Given the description of an element on the screen output the (x, y) to click on. 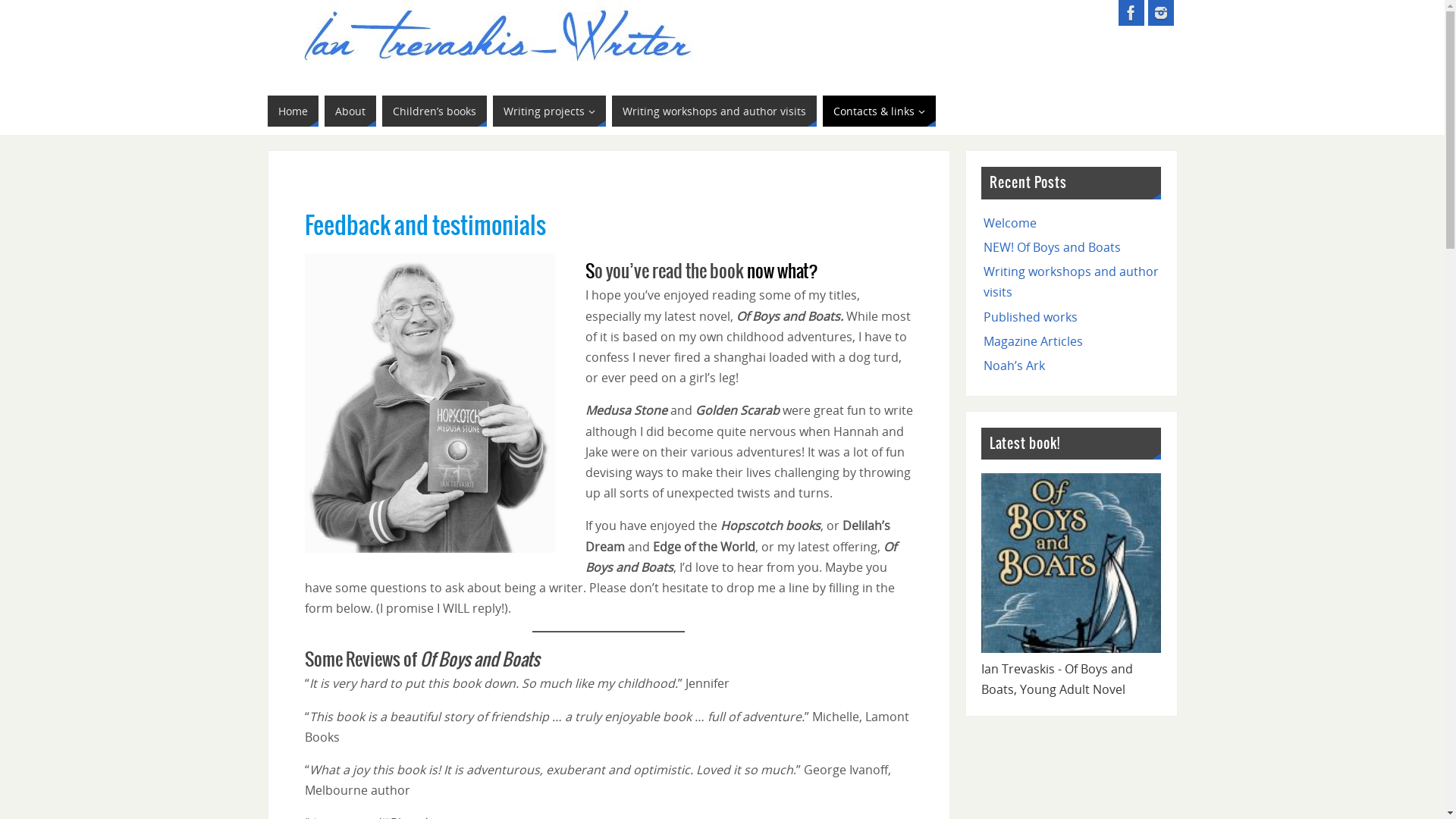
Of-Boys-and-Boats-post-pic1 Element type: hover (1070, 562)
Writing projects Element type: text (548, 110)
About Element type: text (350, 110)
Ian Trevaskis - Facebook Element type: hover (1130, 12)
Welcome Element type: text (1009, 222)
Writing workshops and author visits Element type: text (1070, 281)
Magazine Articles Element type: text (1032, 340)
Published works Element type: text (1030, 316)
Writing workshops and author visits Element type: text (713, 110)
Home Element type: text (291, 110)
Contacts & links Element type: text (878, 110)
Ian Trevaskis - Instagram Element type: hover (1160, 12)
NEW! Of Boys and Boats Element type: text (1051, 246)
